Given the description of an element on the screen output the (x, y) to click on. 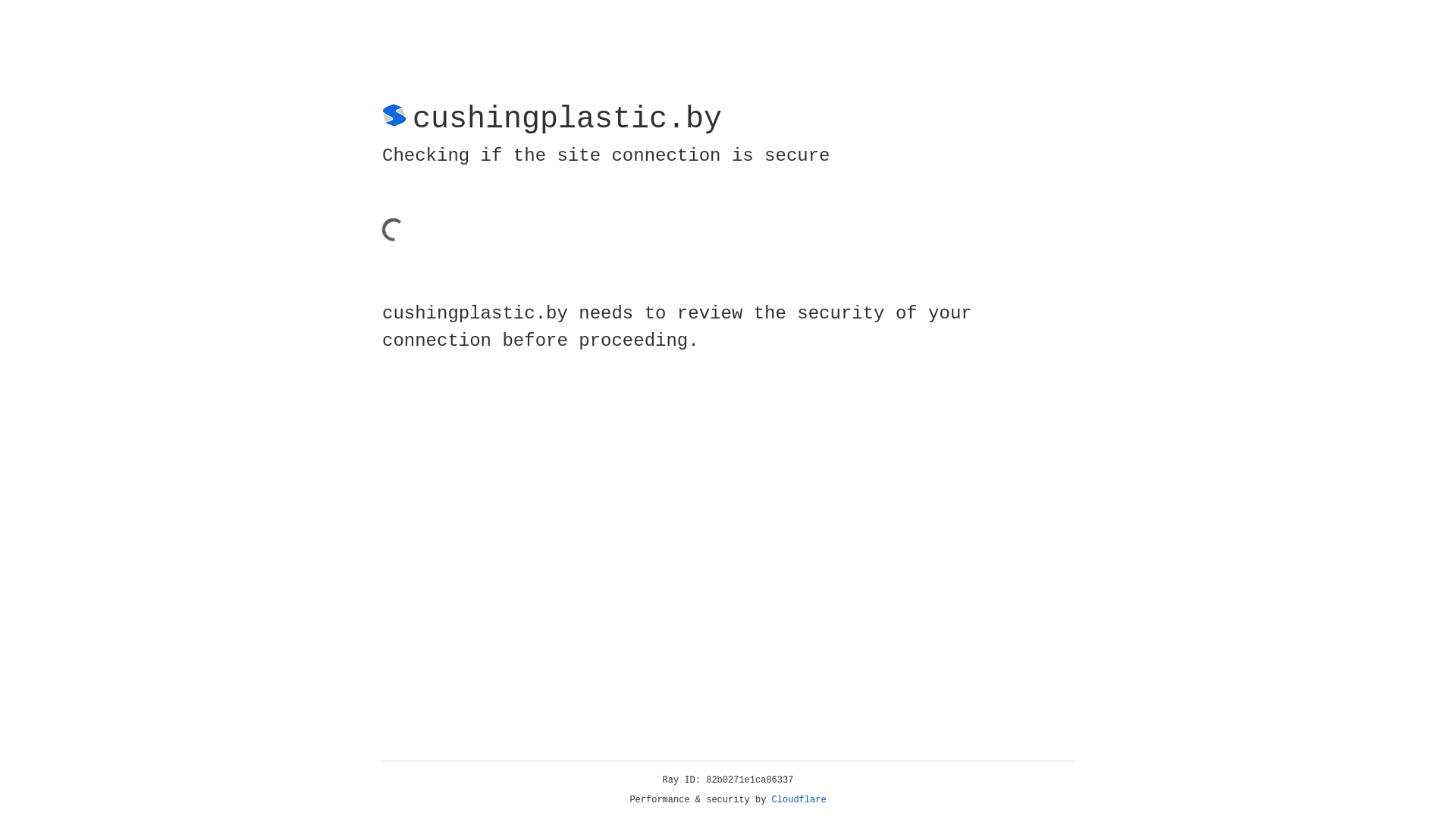
Cloudflare Element type: text (798, 799)
